Given the description of an element on the screen output the (x, y) to click on. 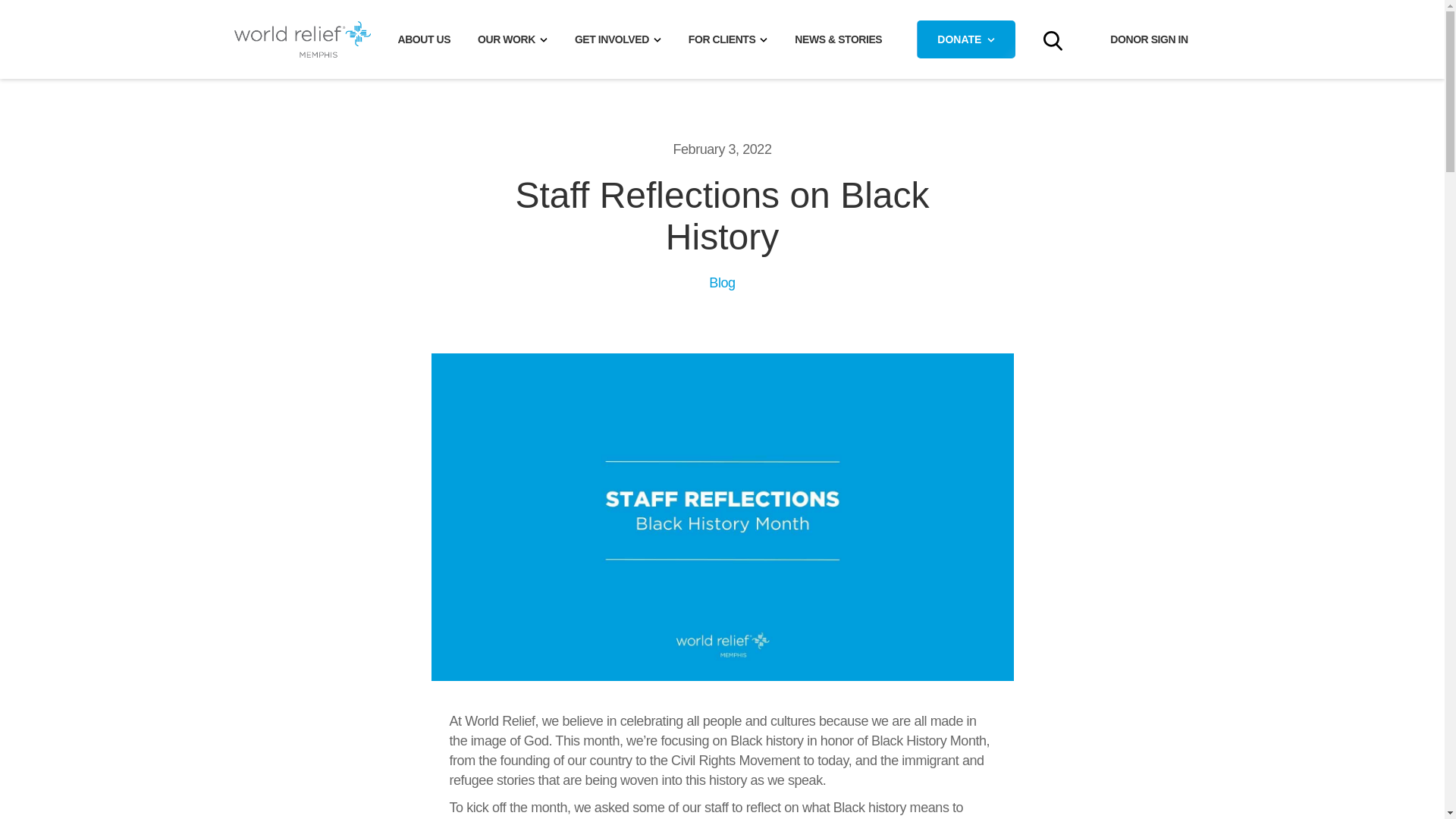
GET INVOLVED (617, 39)
FOR CLIENTS (728, 39)
DONOR SIGN IN (1148, 39)
DONATE (965, 39)
ABOUT US (424, 39)
OUR WORK (512, 39)
